Given the description of an element on the screen output the (x, y) to click on. 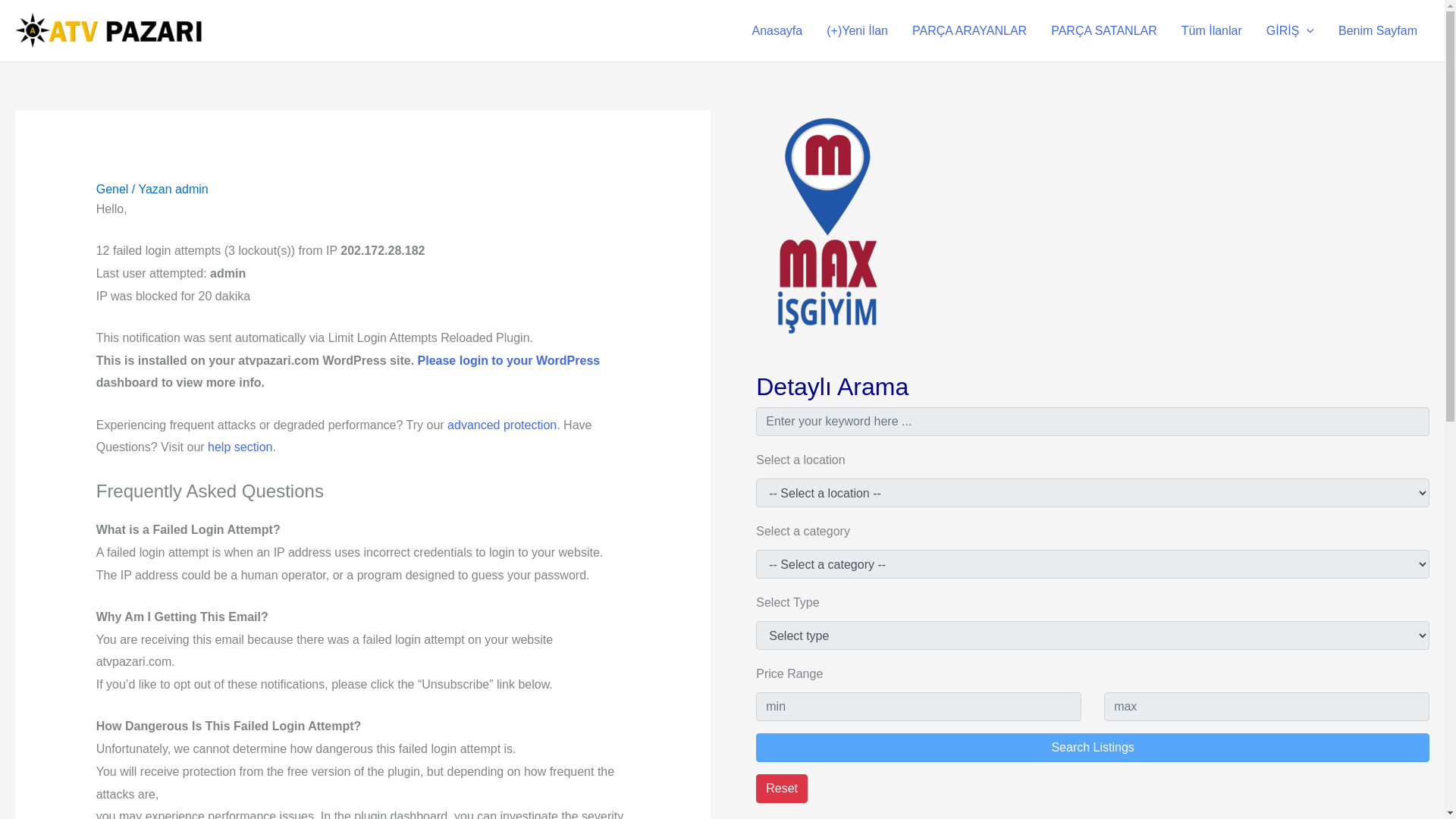
help section (240, 446)
Search Listings (1092, 747)
Benim Sayfam (1377, 30)
Genel (112, 188)
advanced protection (501, 424)
Anasayfa (776, 30)
admin (191, 188)
Reset (781, 788)
Please login to your WordPress (508, 359)
